Given the description of an element on the screen output the (x, y) to click on. 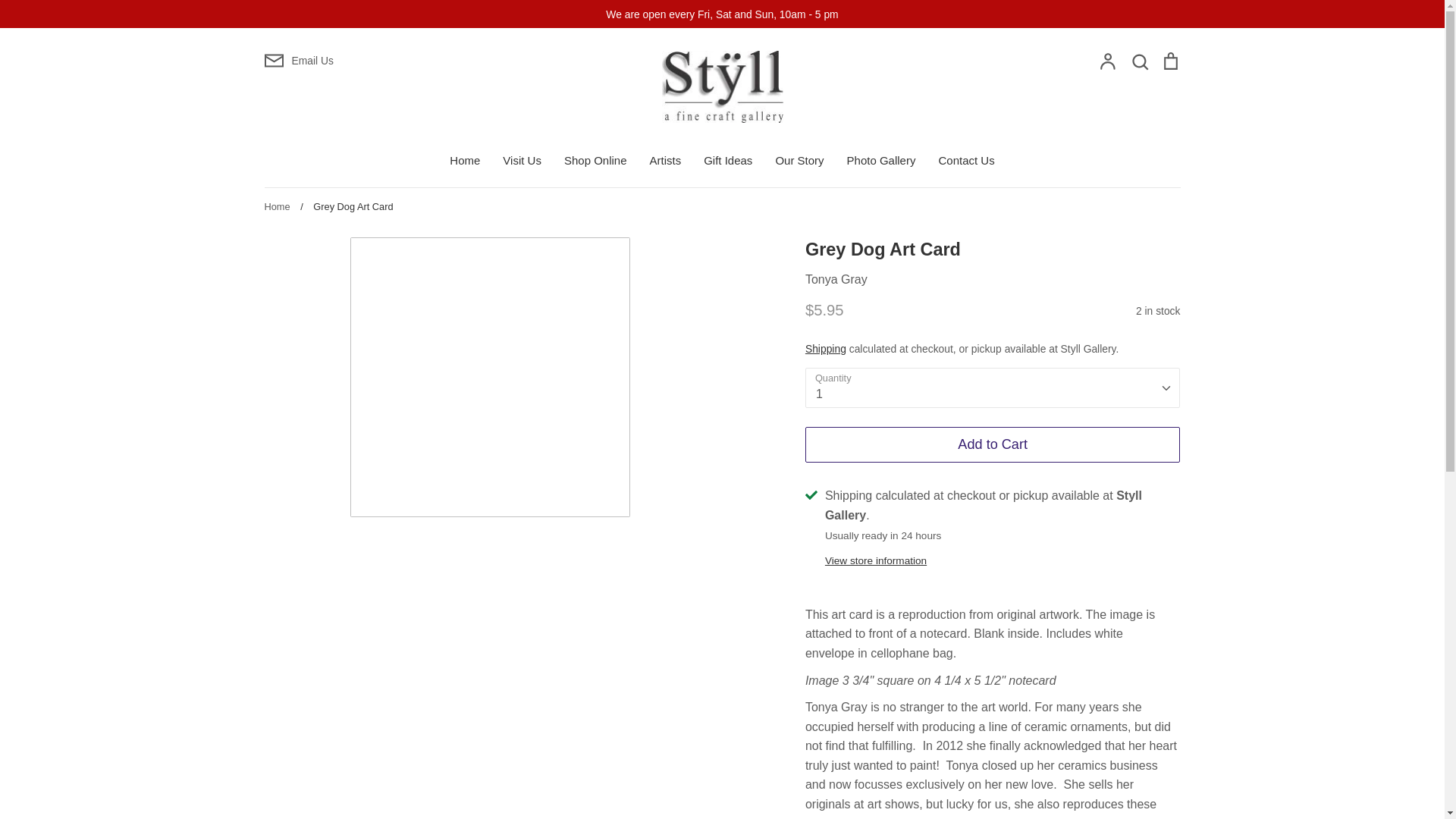
1 (992, 386)
Email Us (414, 60)
Account (1107, 61)
Search (1139, 61)
Shop Online (595, 160)
Cart (1169, 61)
Visit Us (521, 160)
Home (464, 160)
